Given the description of an element on the screen output the (x, y) to click on. 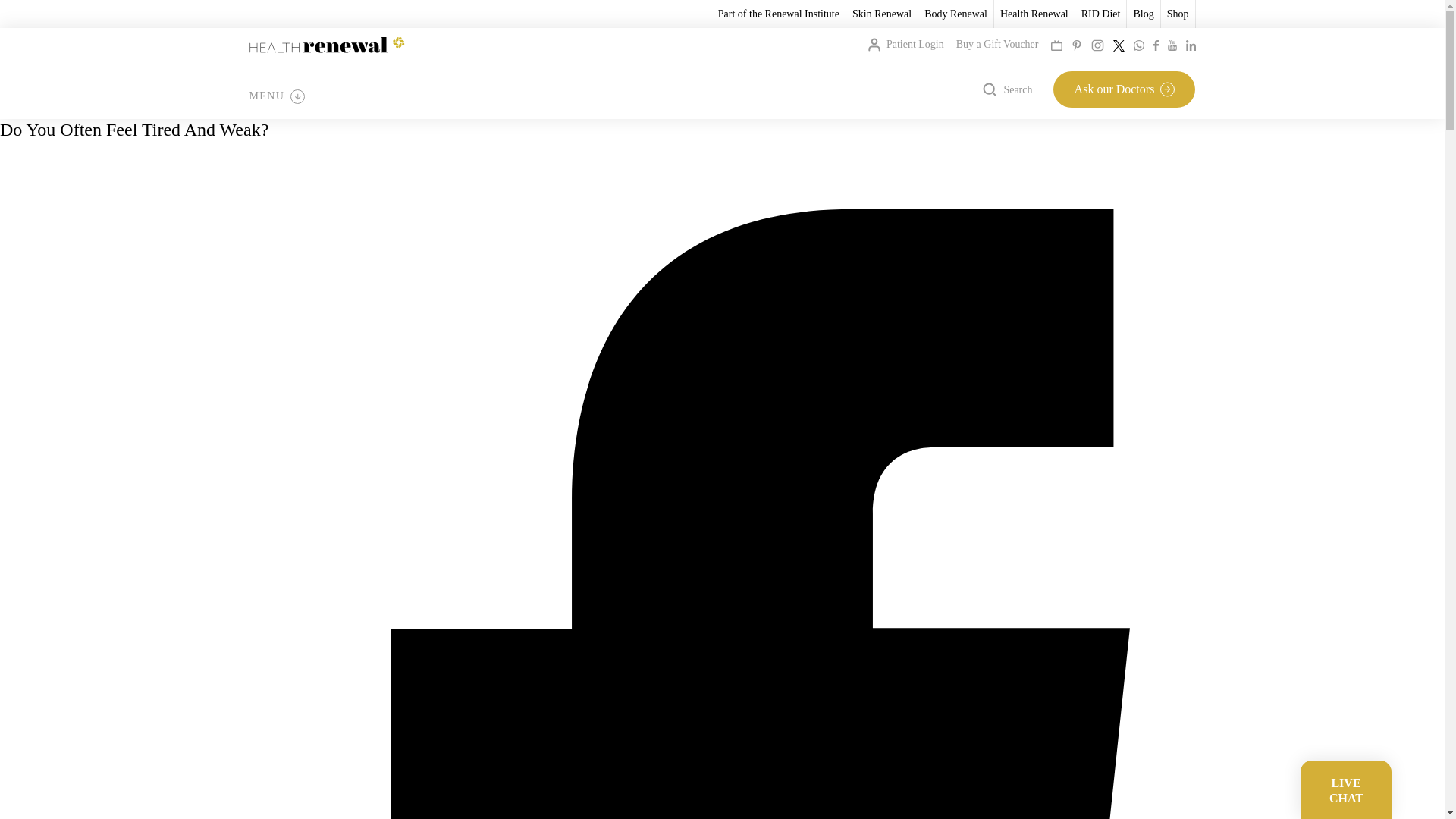
Search (1006, 89)
Health Renewal (1034, 13)
Shop (1178, 13)
Ask our Doctors (1123, 89)
Part of the Renewal Institute (778, 13)
Blog (1142, 13)
Body Renewal (955, 13)
MENU (276, 96)
Buy a Gift Voucher (997, 44)
RID Diet (1101, 13)
